Given the description of an element on the screen output the (x, y) to click on. 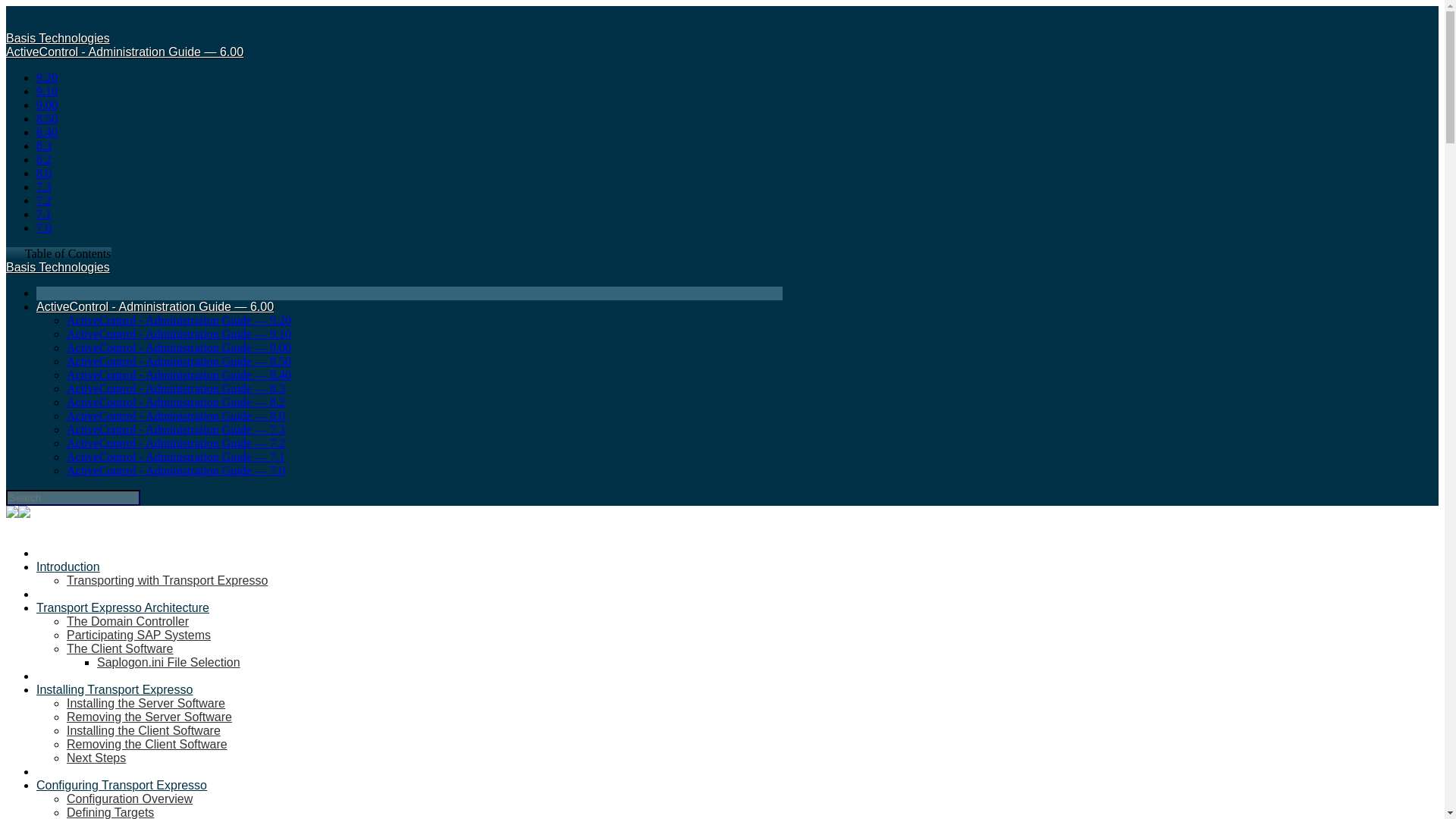
8.50 (47, 118)
9.10 (47, 91)
8.40 (47, 132)
Transporting with Transport Expresso (166, 580)
7.2 (43, 200)
7.0 (43, 227)
Introduction (68, 566)
Saplogon.ini File Selection (168, 662)
The Domain Controller (127, 621)
7.1 (43, 214)
Participating SAP Systems (138, 634)
Table of Contents (58, 253)
Basis Technologies (57, 267)
8.2 (43, 159)
Transport Expresso Architecture (122, 607)
